Given the description of an element on the screen output the (x, y) to click on. 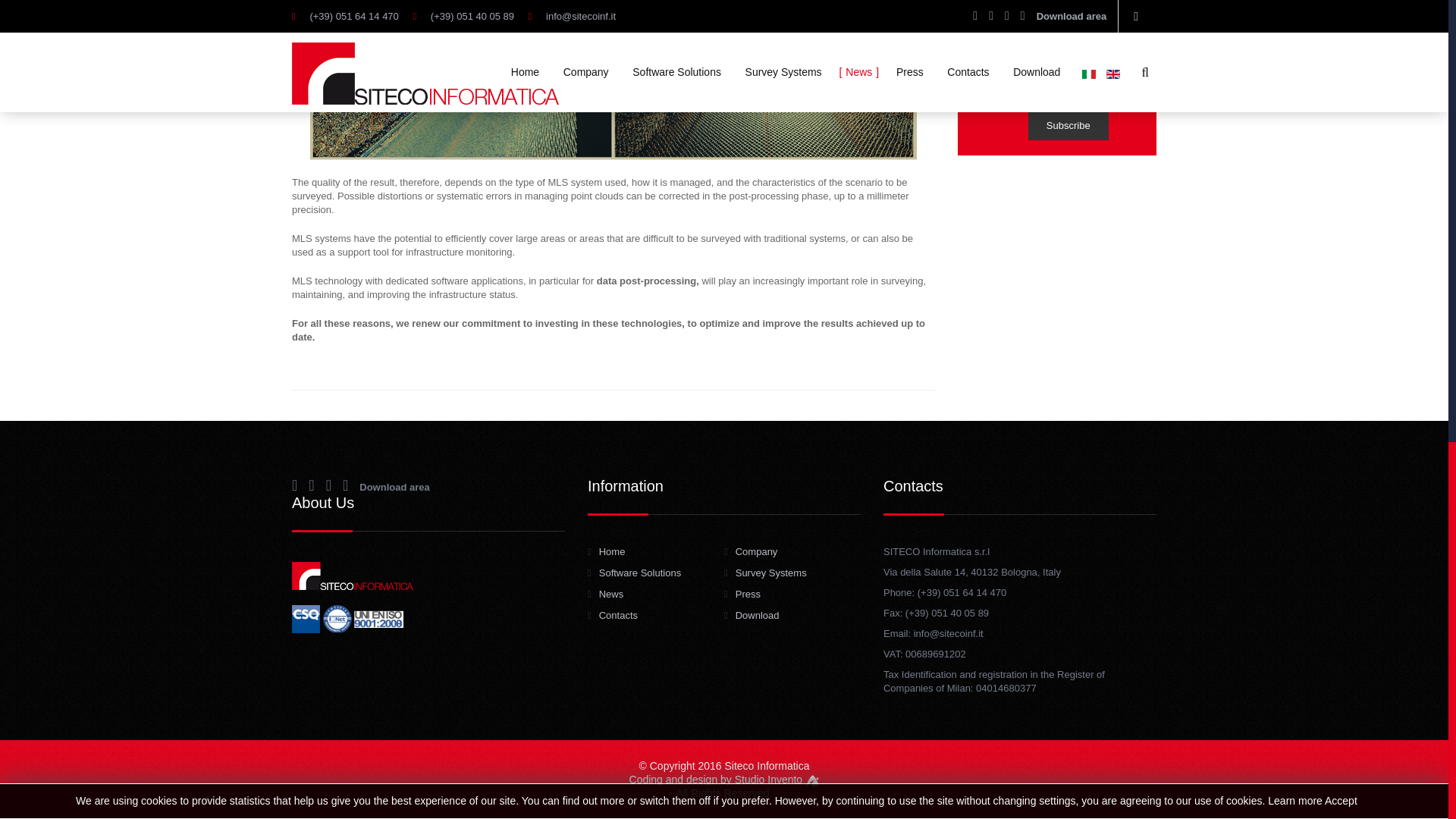
Name (1048, 9)
E-mail (1048, 38)
Terms and Conditions (1030, 82)
Subscribe (1067, 125)
E-mail (1048, 38)
Name (1048, 9)
